Given the description of an element on the screen output the (x, y) to click on. 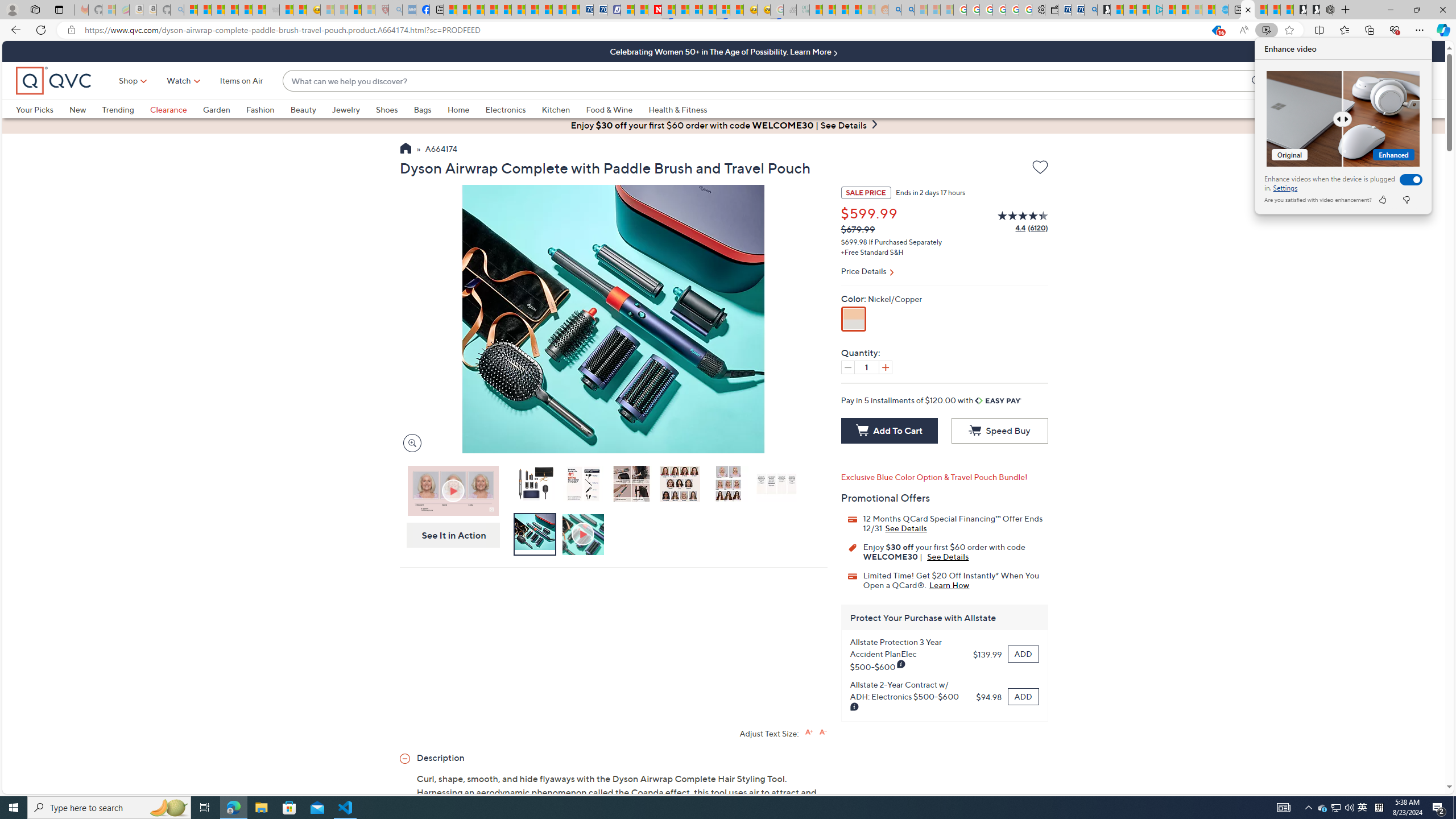
Wallet (1050, 9)
Fashion (268, 109)
Kitchen (563, 109)
Q2790: 100% (1349, 807)
Items on Air (1322, 807)
